Given the description of an element on the screen output the (x, y) to click on. 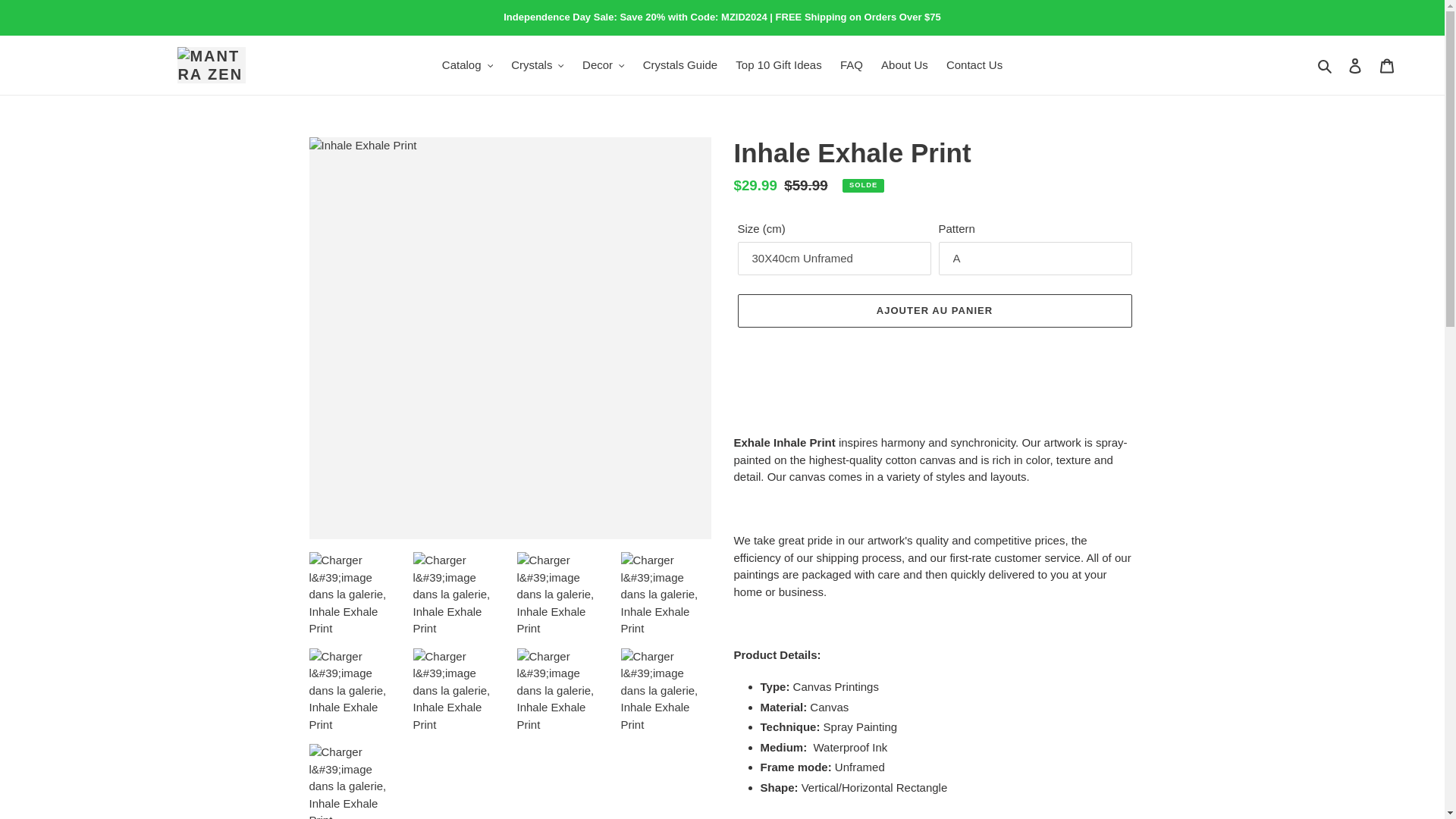
Decor (603, 65)
Catalog (466, 65)
Crystals (537, 65)
